Given the description of an element on the screen output the (x, y) to click on. 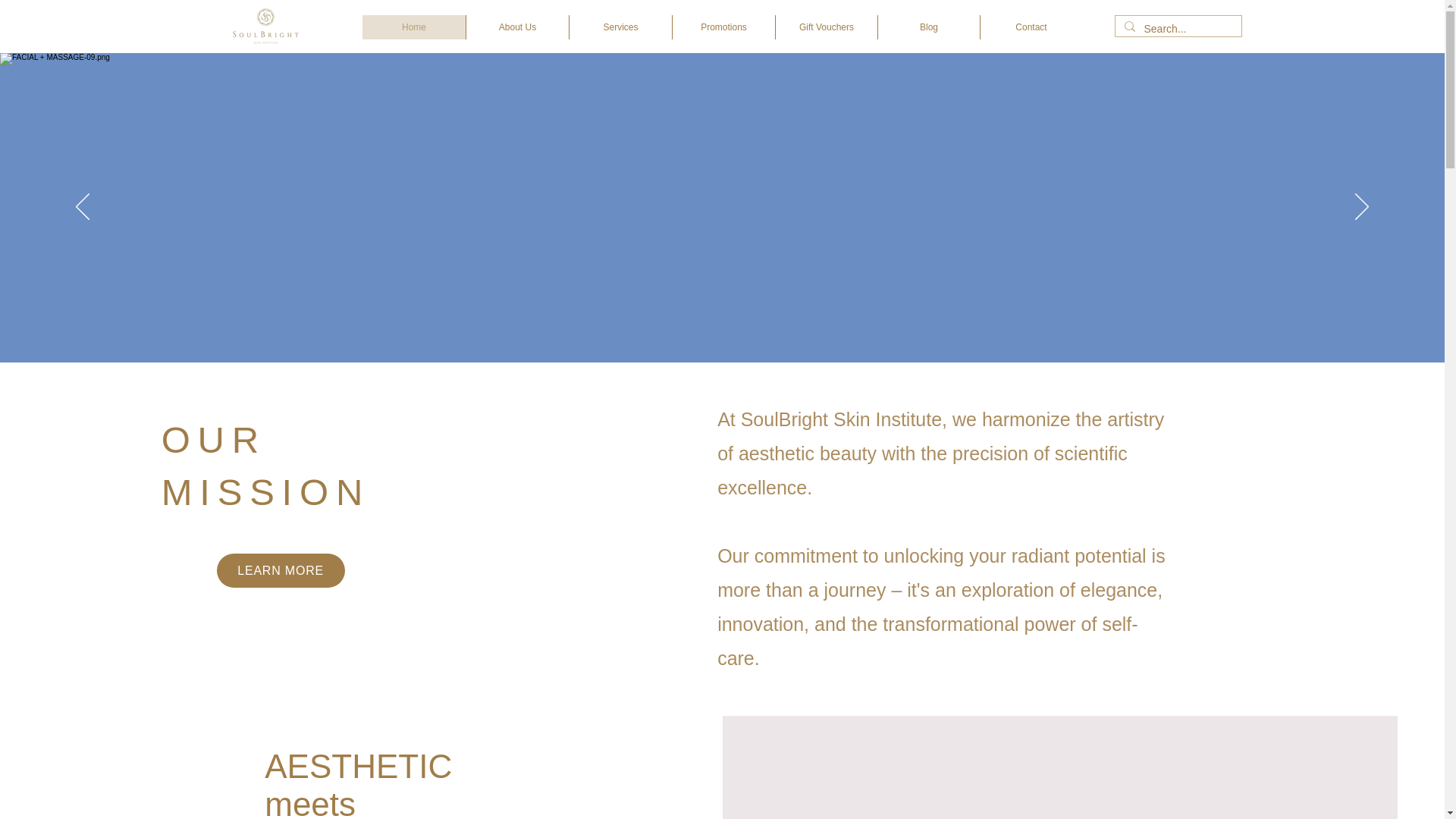
Promotions (722, 27)
Contact (1030, 27)
Gift Vouchers (825, 27)
Blog (928, 27)
About Us (517, 27)
Services (620, 27)
Home (413, 27)
LEARN MORE (280, 570)
